Given the description of an element on the screen output the (x, y) to click on. 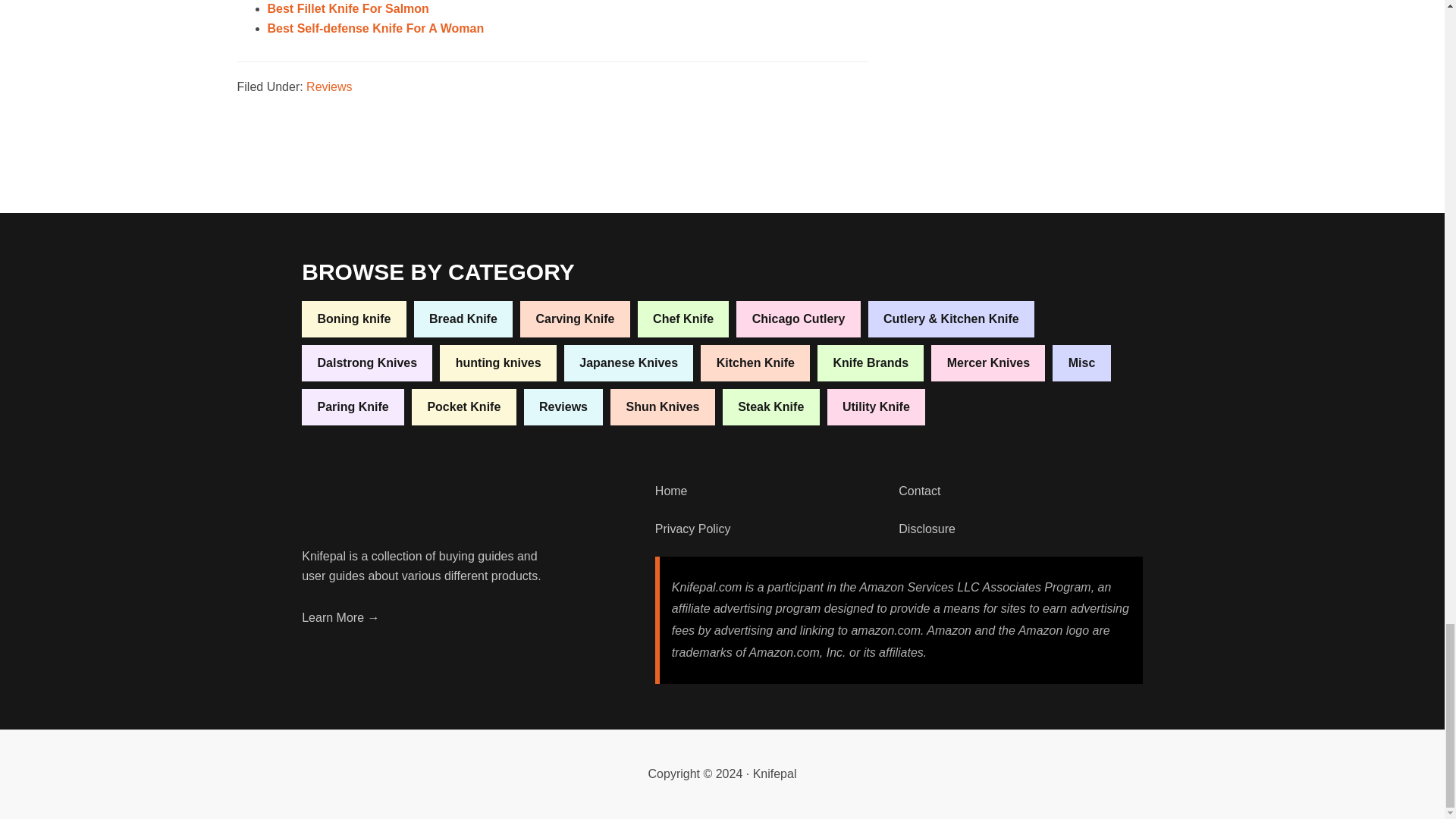
Best Fillet Knife For Salmon (347, 8)
Reviews (328, 86)
Best Self-defense Knife For A Woman (374, 28)
